Given the description of an element on the screen output the (x, y) to click on. 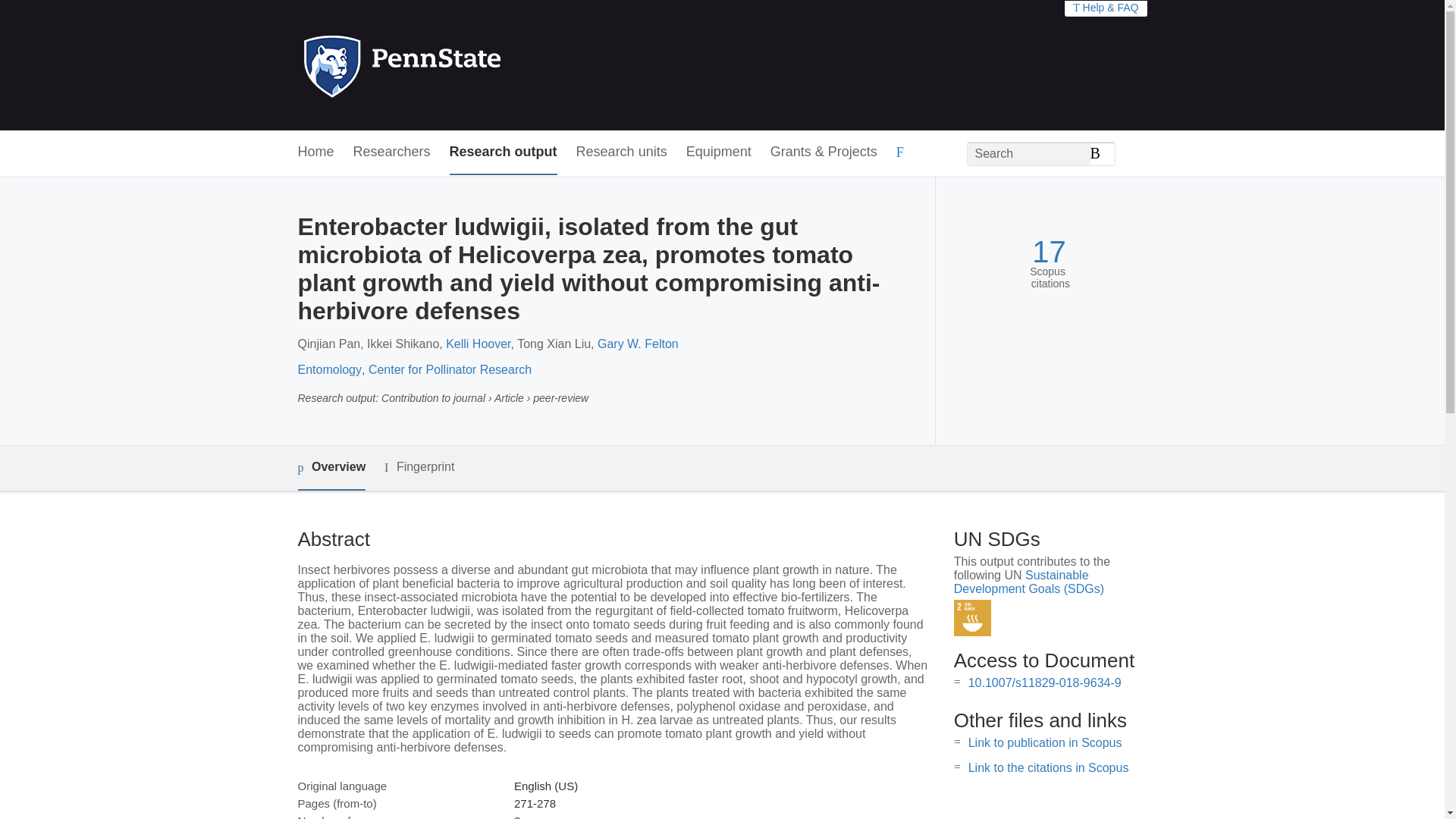
Penn State Home (467, 65)
Entomology (329, 369)
Research output (503, 152)
17 (1048, 252)
Fingerprint (419, 466)
Equipment (718, 152)
SDG 2 - Zero Hunger (972, 618)
Research units (621, 152)
Link to the citations in Scopus (1048, 767)
Overview (331, 467)
Center for Pollinator Research (449, 369)
Link to publication in Scopus (1045, 742)
Researchers (391, 152)
Kelli Hoover (478, 343)
